Given the description of an element on the screen output the (x, y) to click on. 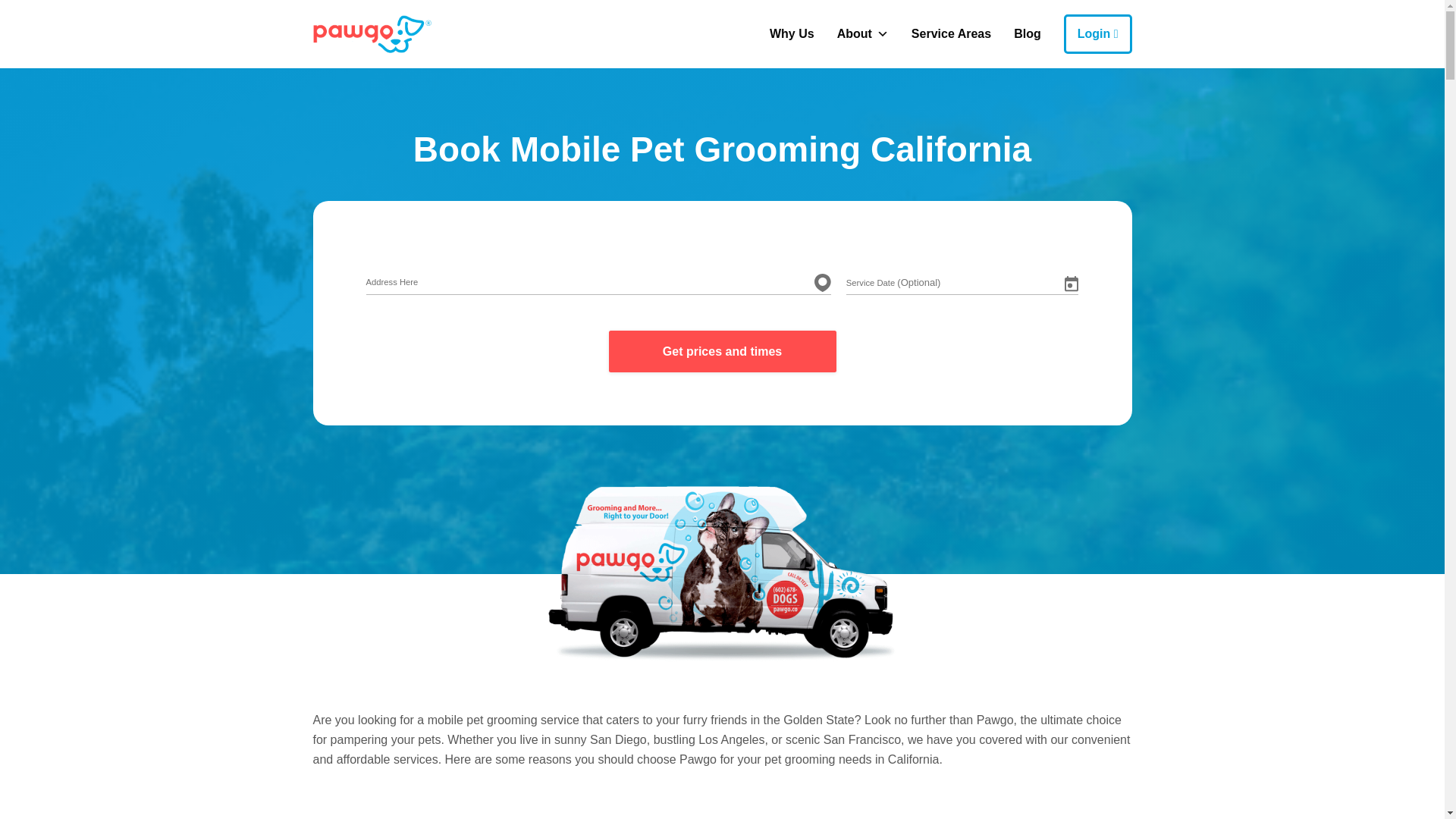
About (862, 33)
Why Us (791, 33)
Service Areas (951, 33)
Get prices and times (721, 351)
